Given the description of an element on the screen output the (x, y) to click on. 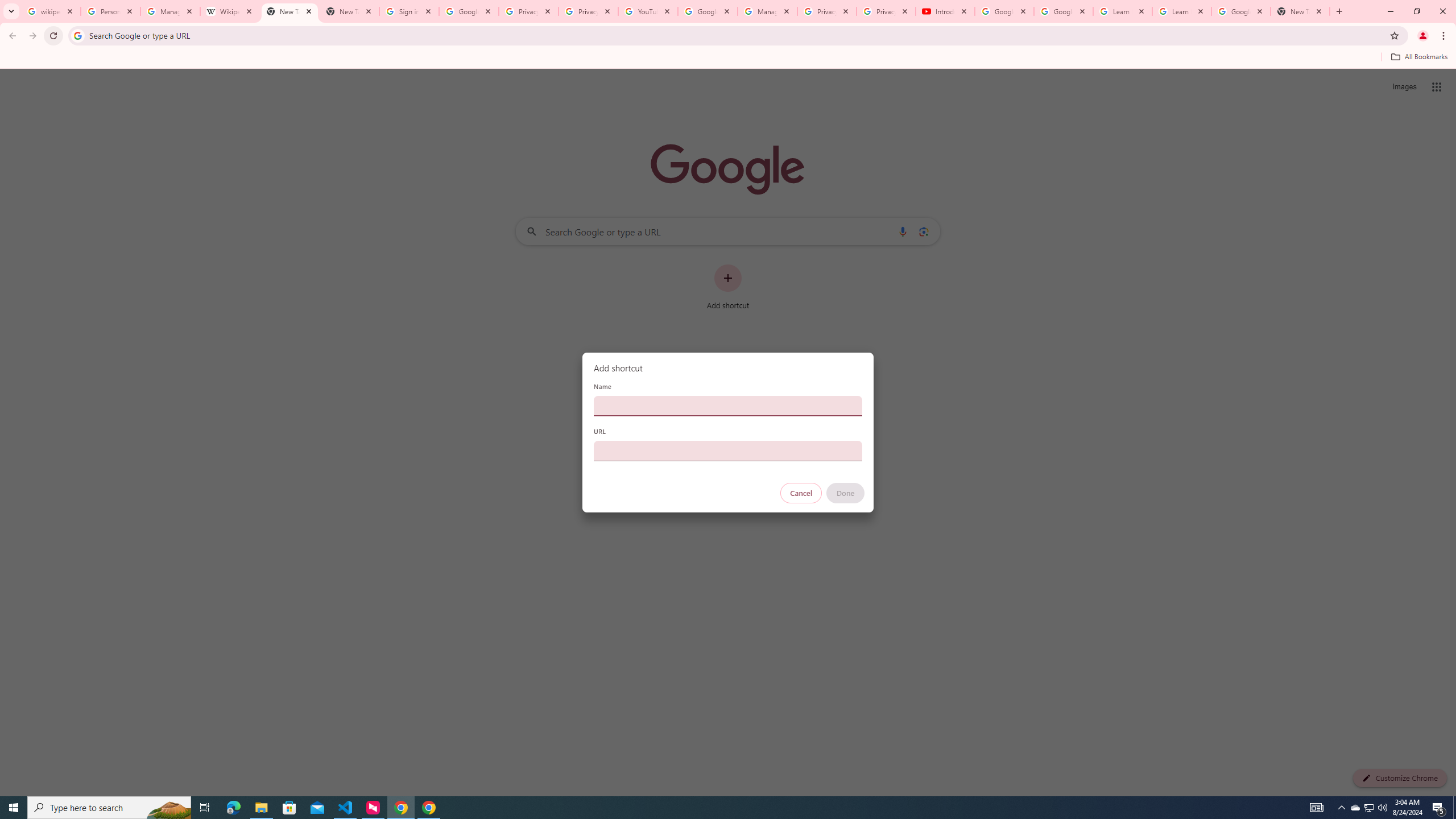
Manage your Location History - Google Search Help (170, 11)
Cancel (801, 493)
URL (727, 450)
